Given the description of an element on the screen output the (x, y) to click on. 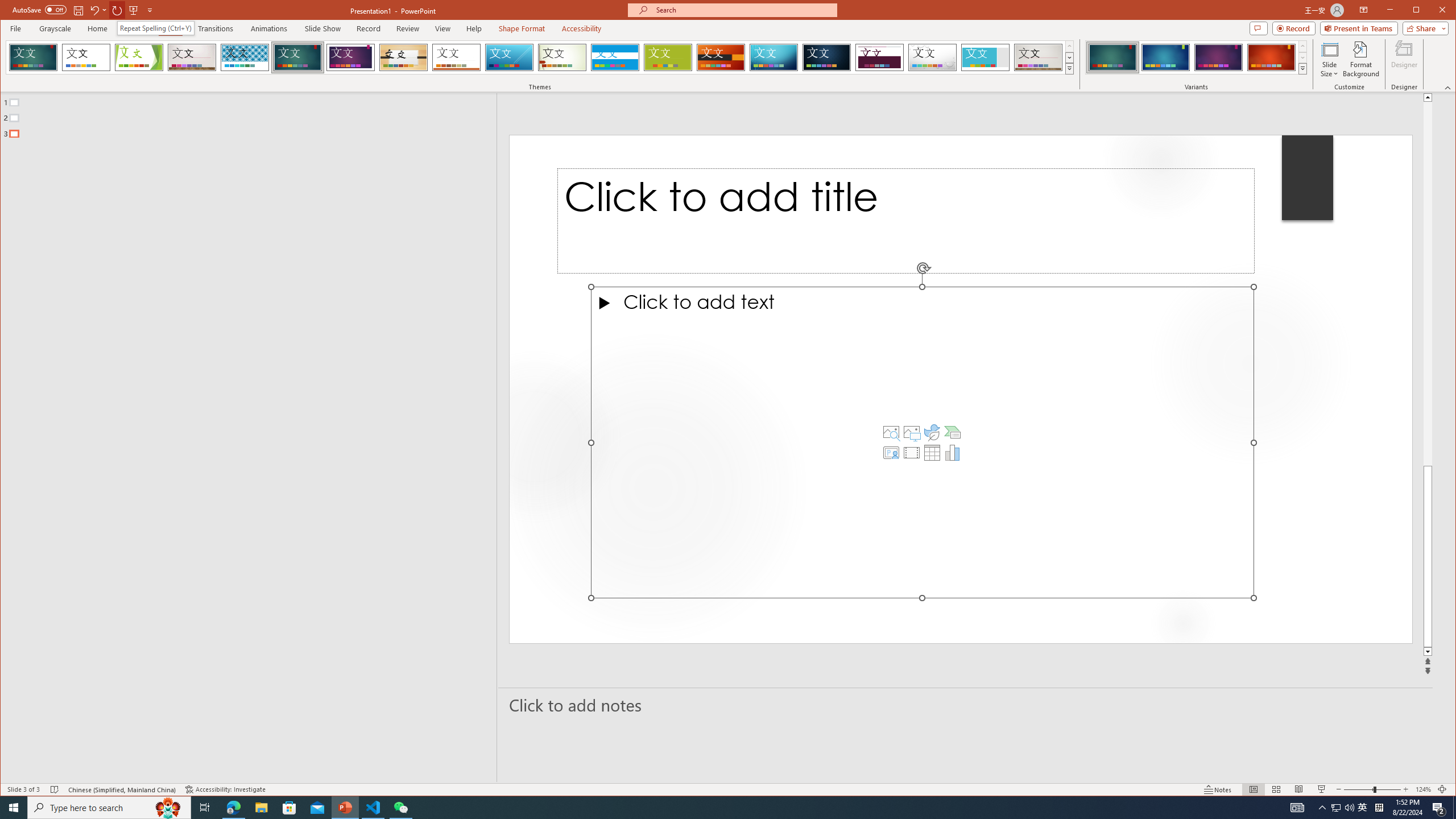
Running applications (707, 807)
Maximize (1432, 11)
Format Background (1360, 59)
Themes (1069, 68)
Outline (252, 115)
Ion (297, 57)
Ion Boardroom (350, 57)
Office Theme (85, 57)
